Given the description of an element on the screen output the (x, y) to click on. 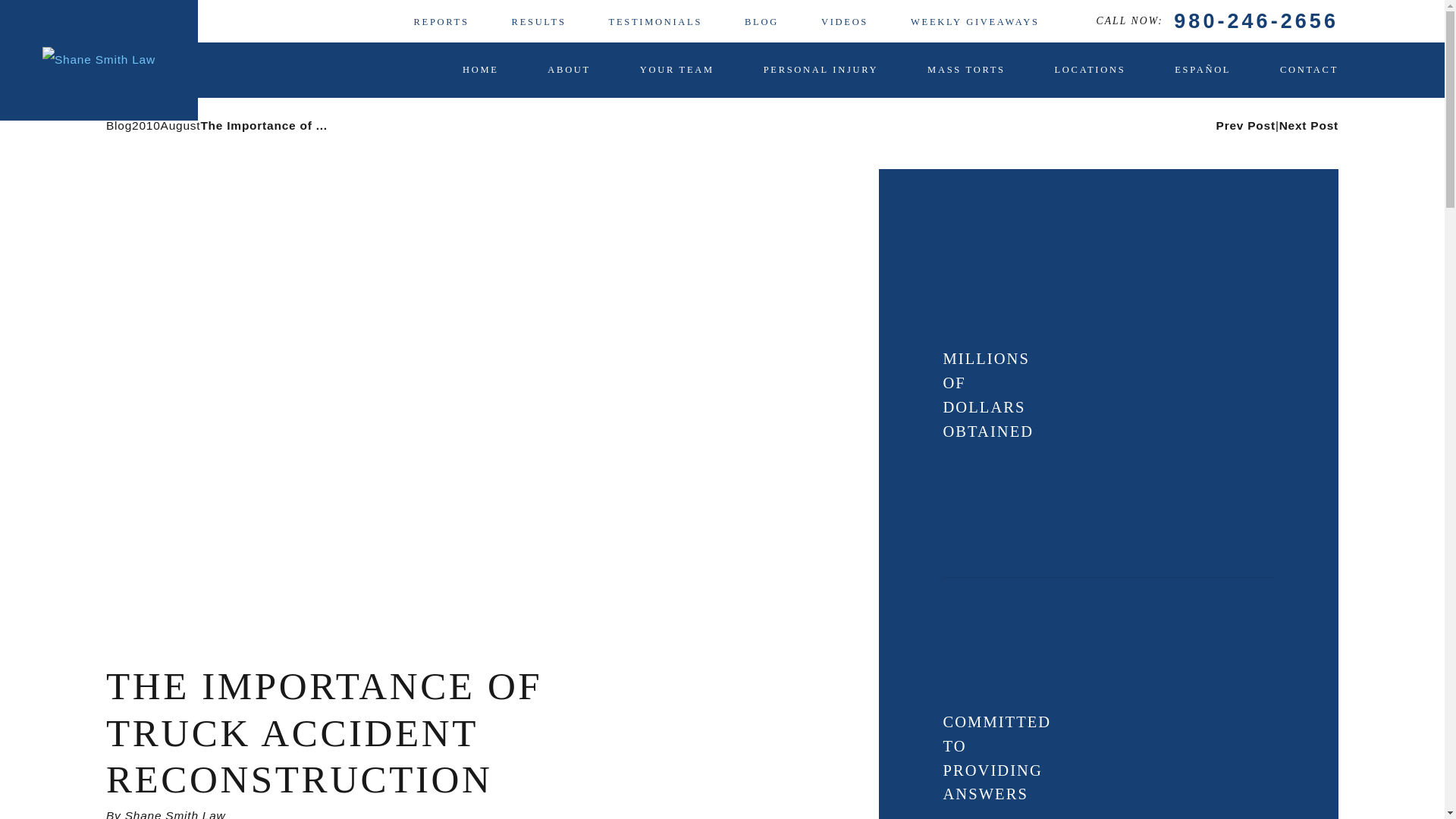
RESULTS (539, 21)
REPORTS (440, 21)
BLOG (761, 21)
YOUR TEAM (677, 69)
TESTIMONIALS (654, 21)
VIDEOS (844, 21)
HOME (481, 69)
ABOUT (569, 69)
980-246-2656 (1255, 21)
Shane Smith Law (98, 59)
